Given the description of an element on the screen output the (x, y) to click on. 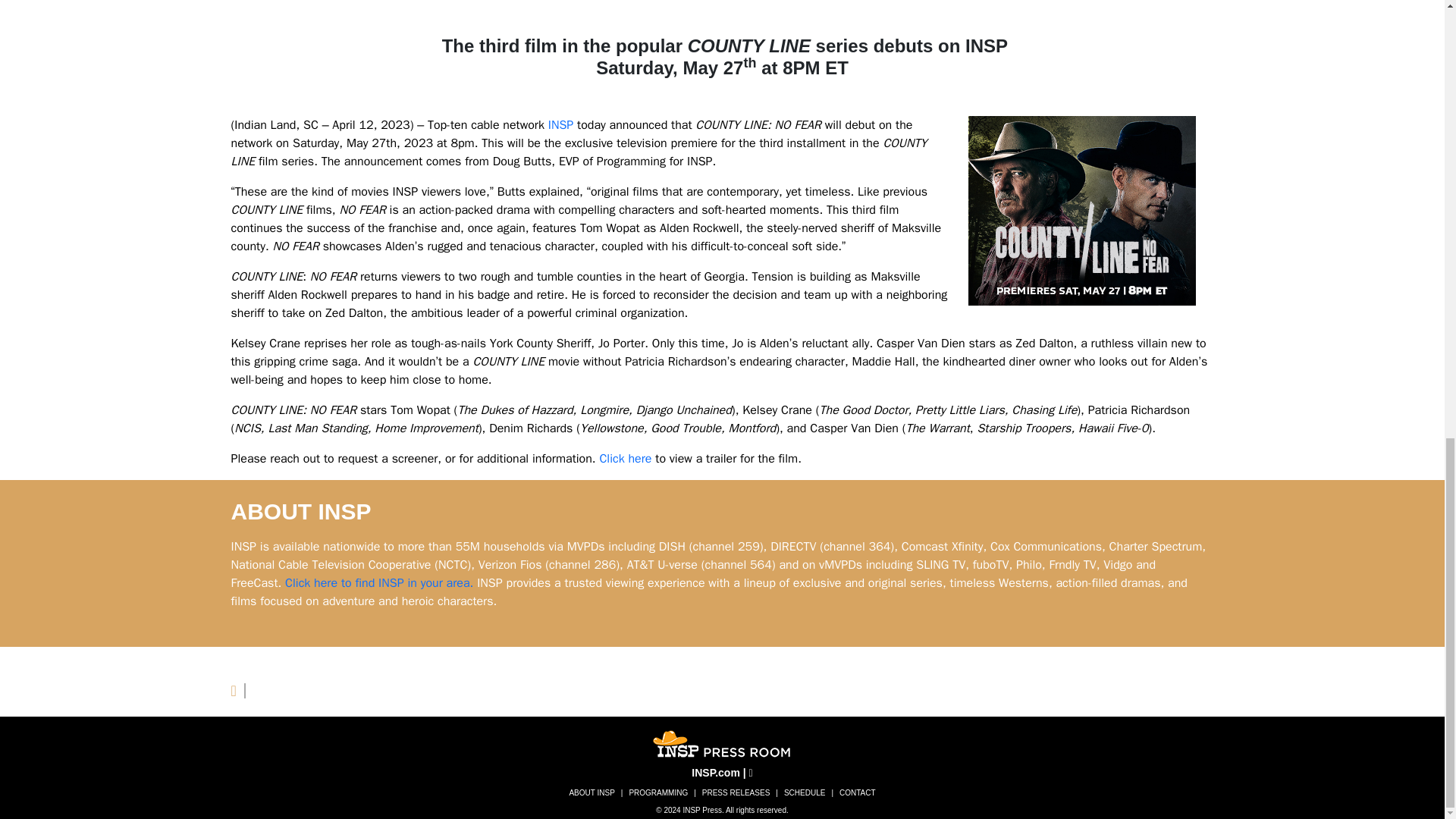
SCHEDULE (804, 792)
PRESS RELEASES (735, 792)
Click here to find INSP in your area. (379, 582)
CONTACT (857, 792)
Programming (658, 792)
Click here (624, 458)
Press Releases (735, 792)
ABOUT INSP (591, 792)
About INSP (591, 792)
INSP (560, 124)
PROGRAMMING (658, 792)
Schedule (804, 792)
INSP.com (715, 772)
Contact (857, 792)
